Given the description of an element on the screen output the (x, y) to click on. 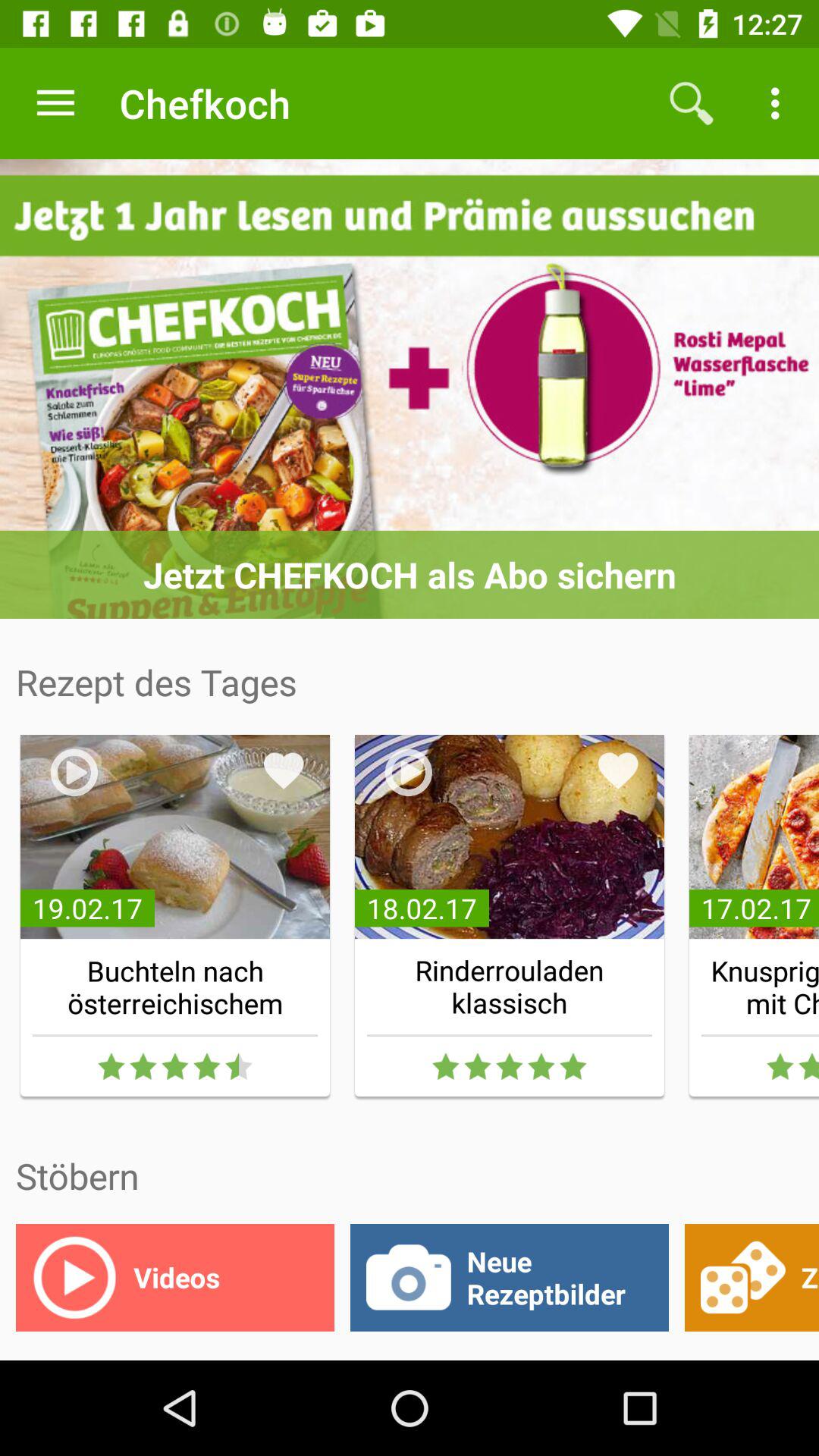
press the item above rinderrouladen klassisch (618, 770)
